Given the description of an element on the screen output the (x, y) to click on. 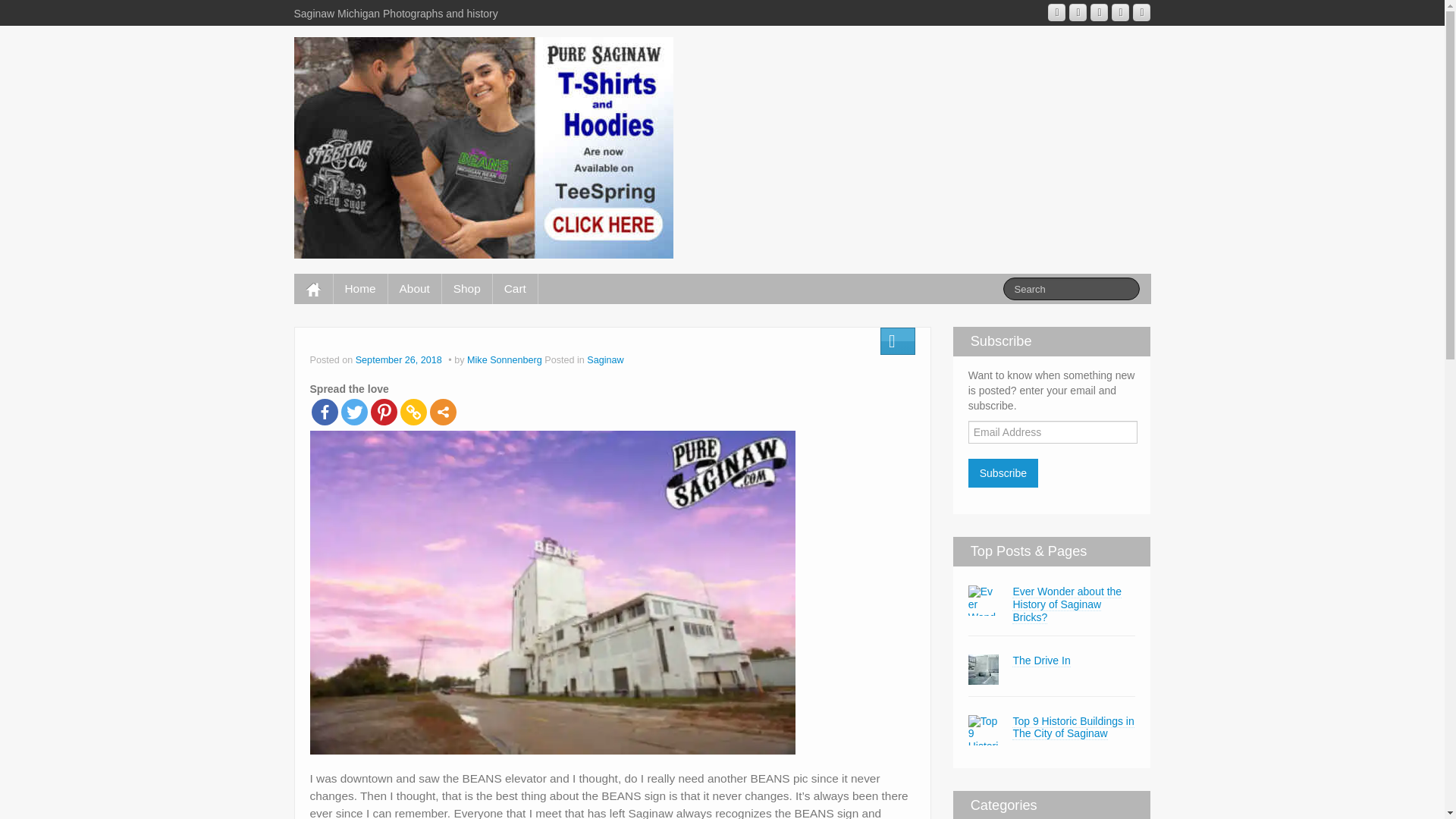
The Drive In (1040, 660)
Copy Link (413, 411)
Shop (467, 288)
Pure Saginaw (483, 146)
Pure Saginaw Twitter (1141, 12)
September 26, 2018 (400, 359)
About (414, 288)
Pure Saginaw Googleplus (1077, 12)
View all posts by Mike Sonnenberg (504, 359)
5:02 pm (400, 359)
Subscribe (1003, 472)
Pinterest (382, 411)
Pure Saginaw Email (1056, 12)
Pure Saginaw Vimeo (1120, 12)
More (442, 411)
